Given the description of an element on the screen output the (x, y) to click on. 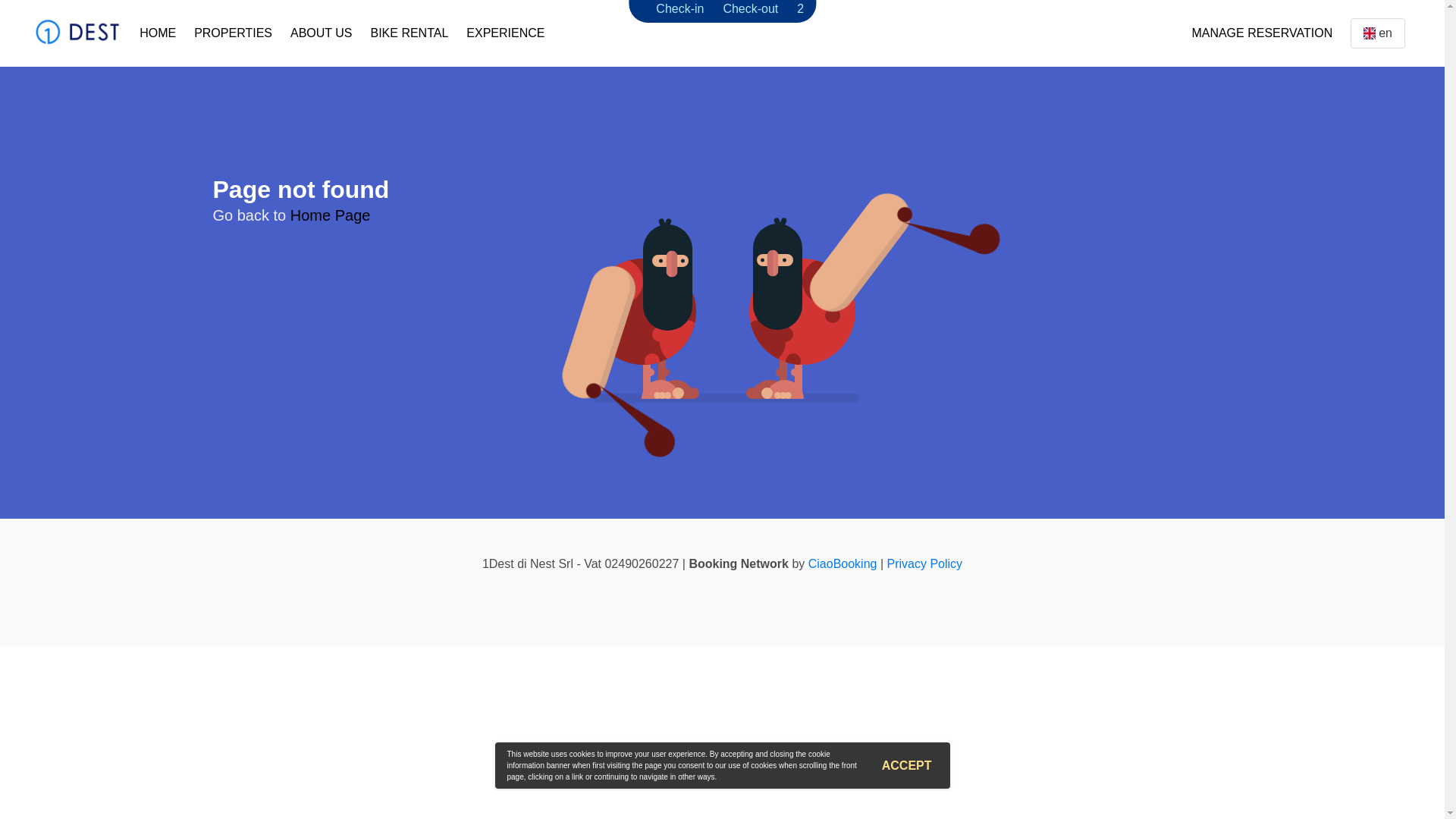
EXPERIENCE Element type: text (505, 33)
ACCEPT Element type: text (906, 765)
ABOUT US Element type: text (321, 33)
en Element type: hover (1369, 33)
PROPERTIES Element type: text (233, 33)
en Element type: text (1377, 33)
Home Page Element type: text (330, 215)
BIKE RENTAL Element type: text (408, 33)
MANAGE RESERVATION Element type: text (1261, 33)
Privacy Policy Element type: text (925, 563)
CiaoBooking Element type: text (842, 563)
HOME Element type: text (157, 33)
